Given the description of an element on the screen output the (x, y) to click on. 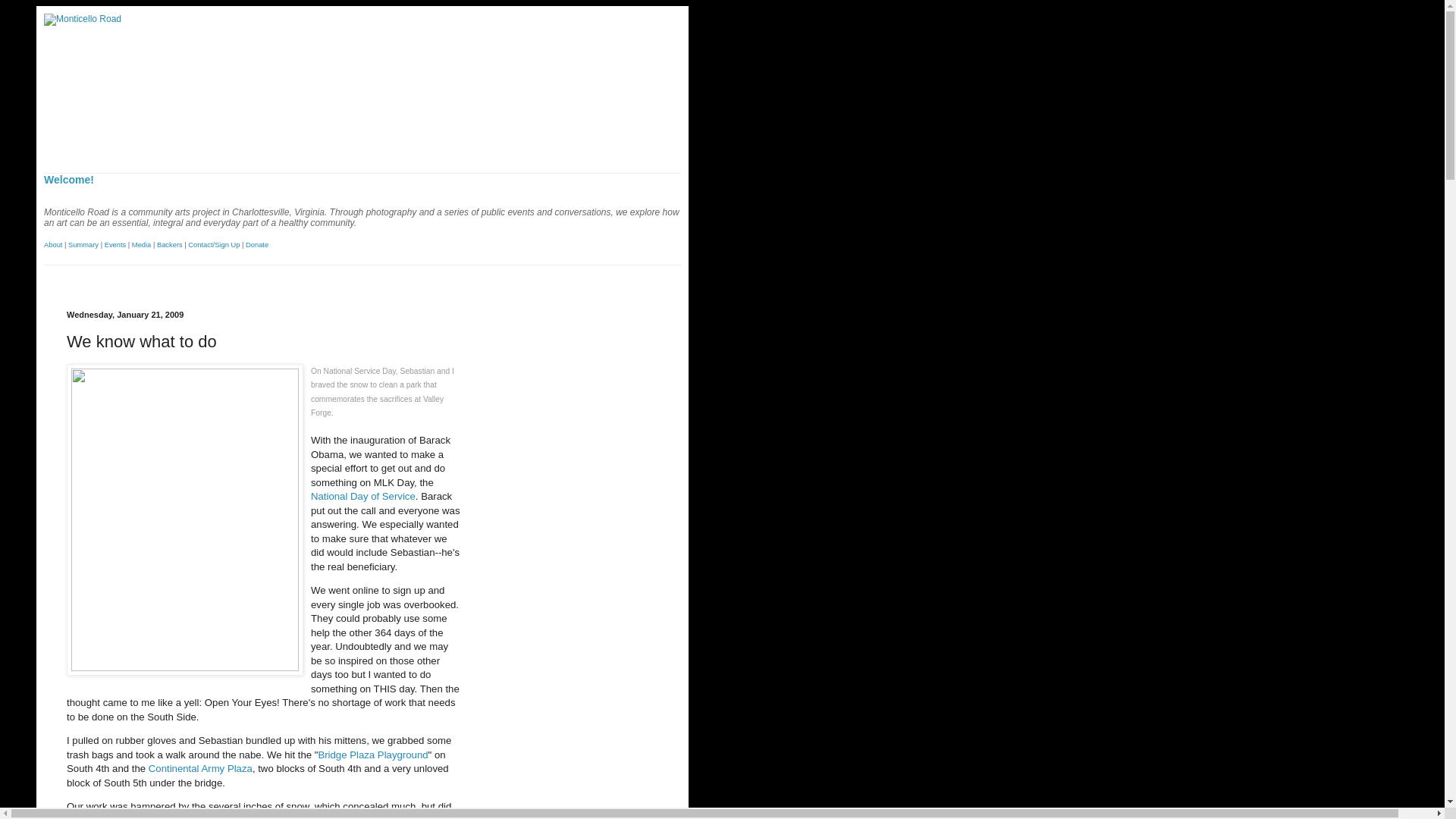
Summary (83, 244)
Backers (170, 244)
National Day of Service (362, 496)
Bridge Plaza Playground (372, 754)
Donate (256, 244)
Events (115, 244)
Continental Army Plaza (199, 767)
About (52, 244)
Media (141, 244)
